Given the description of an element on the screen output the (x, y) to click on. 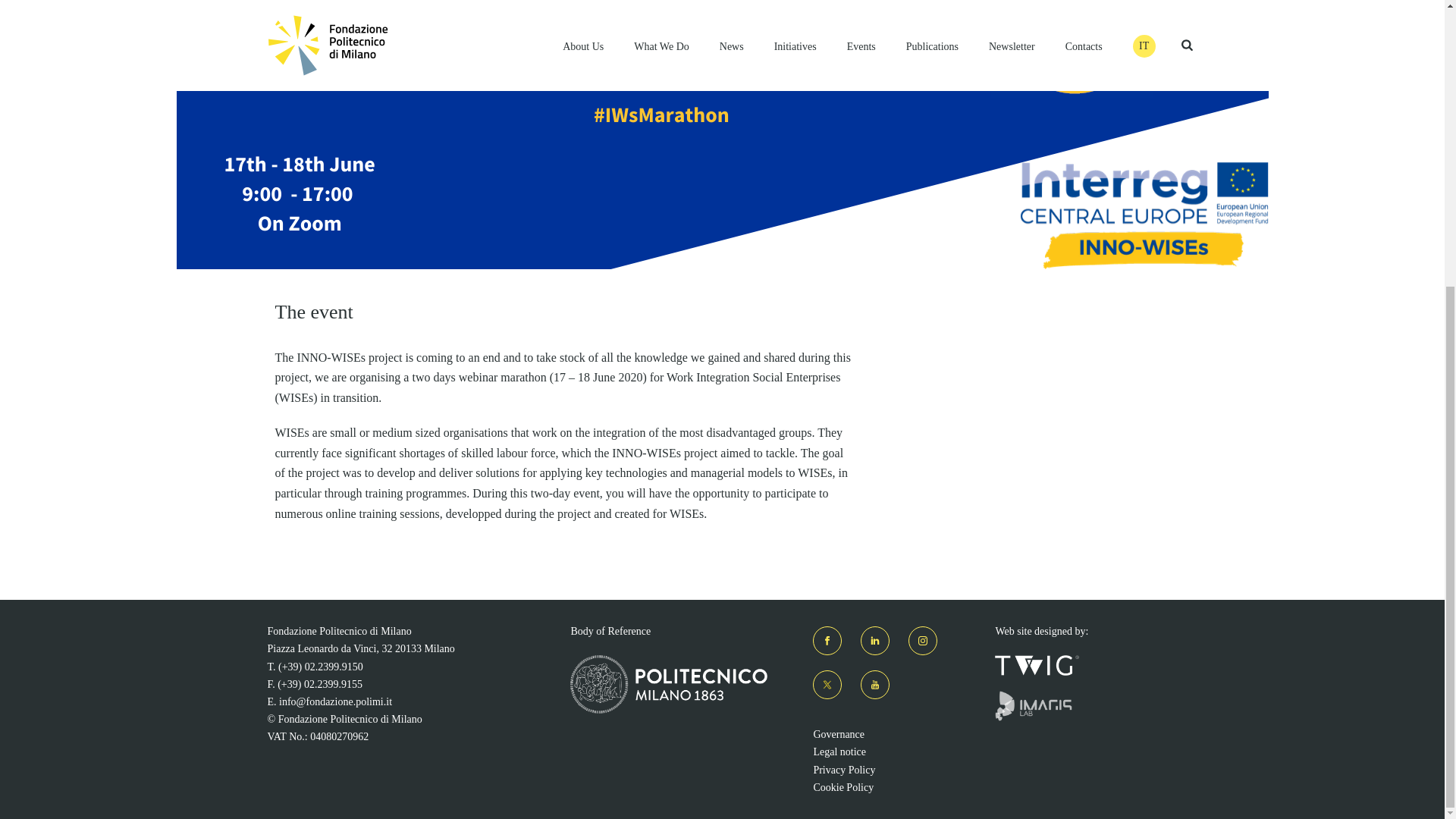
Governance (838, 734)
 instagram (922, 640)
 facebook (826, 640)
Cookie Policy (842, 787)
 youtube (874, 684)
Legal notice (839, 751)
 linkedin (874, 640)
Privacy Policy (843, 769)
